Given the description of an element on the screen output the (x, y) to click on. 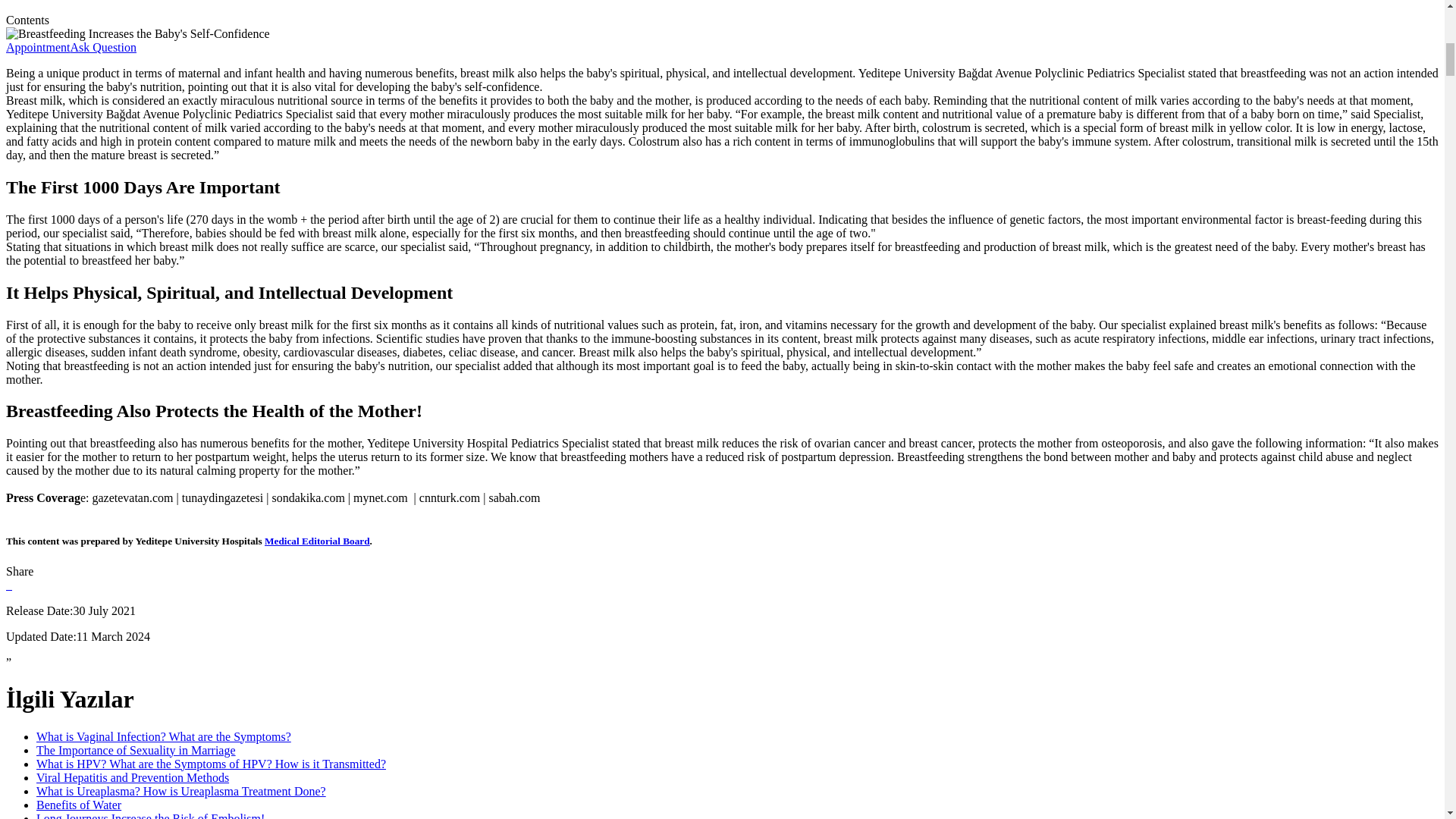
Breastfeeding Increases the Baby's Self-Confidence (137, 33)
The Importance of Sexuality in Marriage (135, 749)
What is Vaginal Infection? What are the Symptoms? (163, 736)
Viral Hepatitis and Prevention Methods (132, 777)
